Given the description of an element on the screen output the (x, y) to click on. 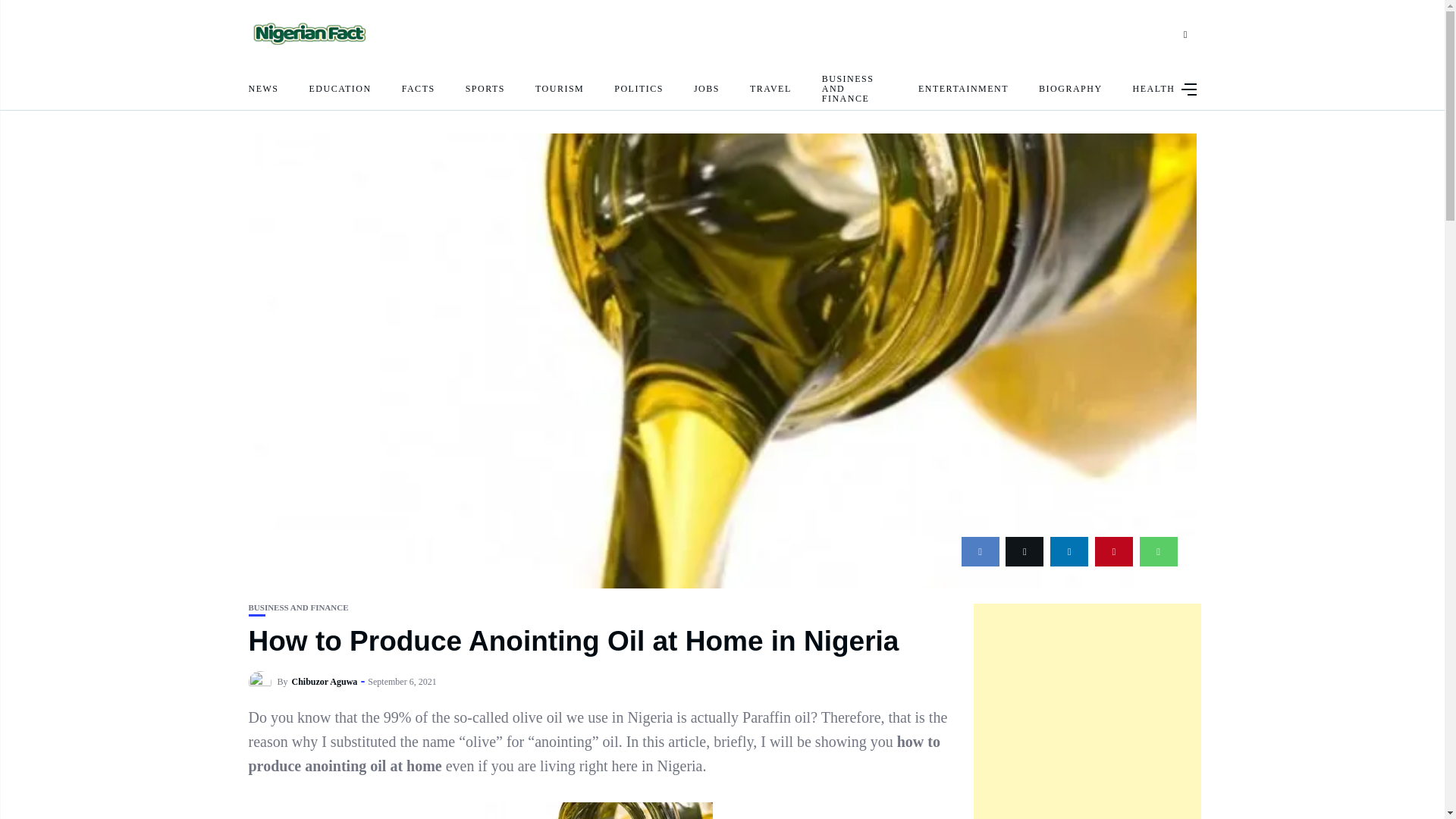
BIOGRAPHY (1070, 88)
Posts by Chibuzor Aguwa (325, 681)
EDUCATION (339, 88)
SPORTS (485, 88)
NEWS (263, 88)
FACTS (418, 88)
BUSINESS AND FINANCE (855, 88)
JOBS (706, 88)
TRAVEL (770, 88)
Chibuzor Aguwa (325, 681)
TOURISM (559, 88)
ENTERTAINMENT (963, 88)
HEALTH (1153, 88)
Advertisement (1087, 711)
facebook (979, 551)
